Given the description of an element on the screen output the (x, y) to click on. 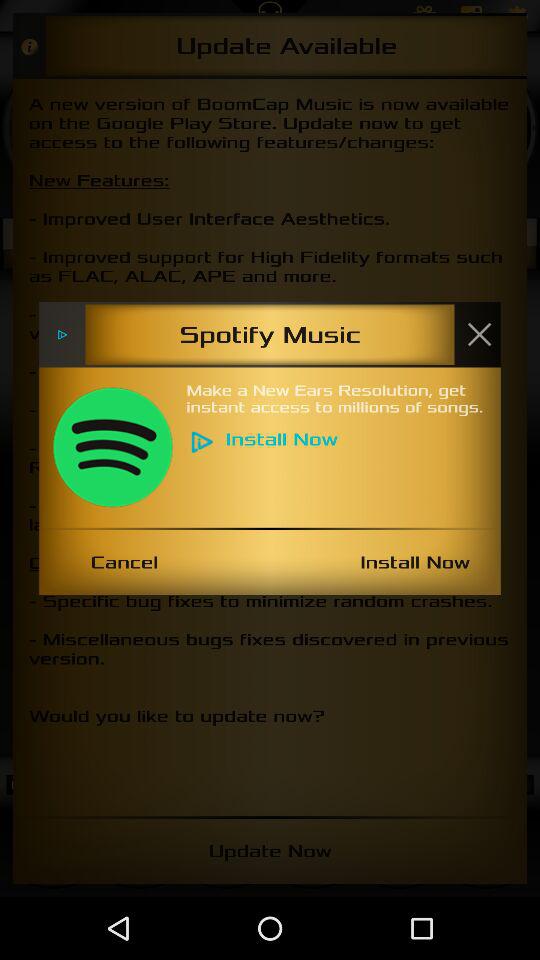
click cancel (124, 562)
